Given the description of an element on the screen output the (x, y) to click on. 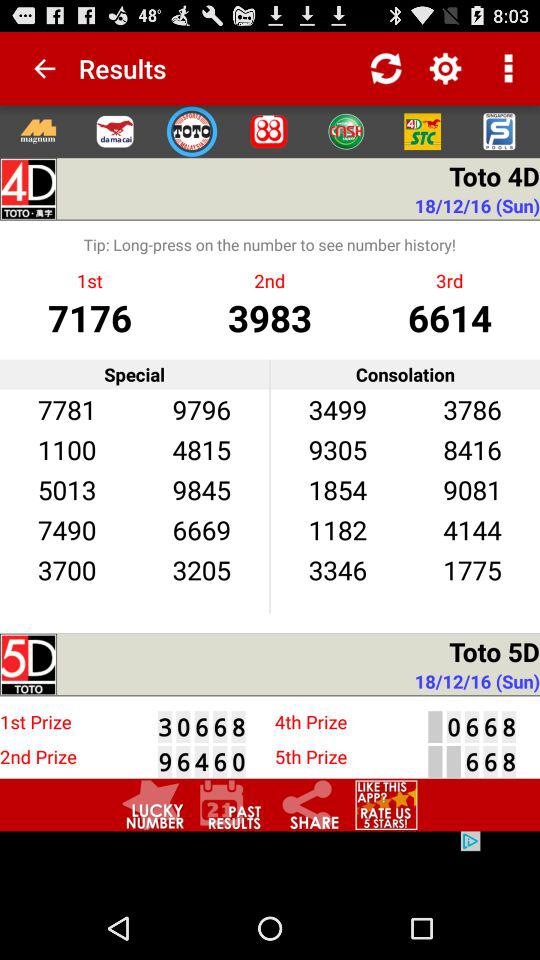
go to cash (345, 131)
